Given the description of an element on the screen output the (x, y) to click on. 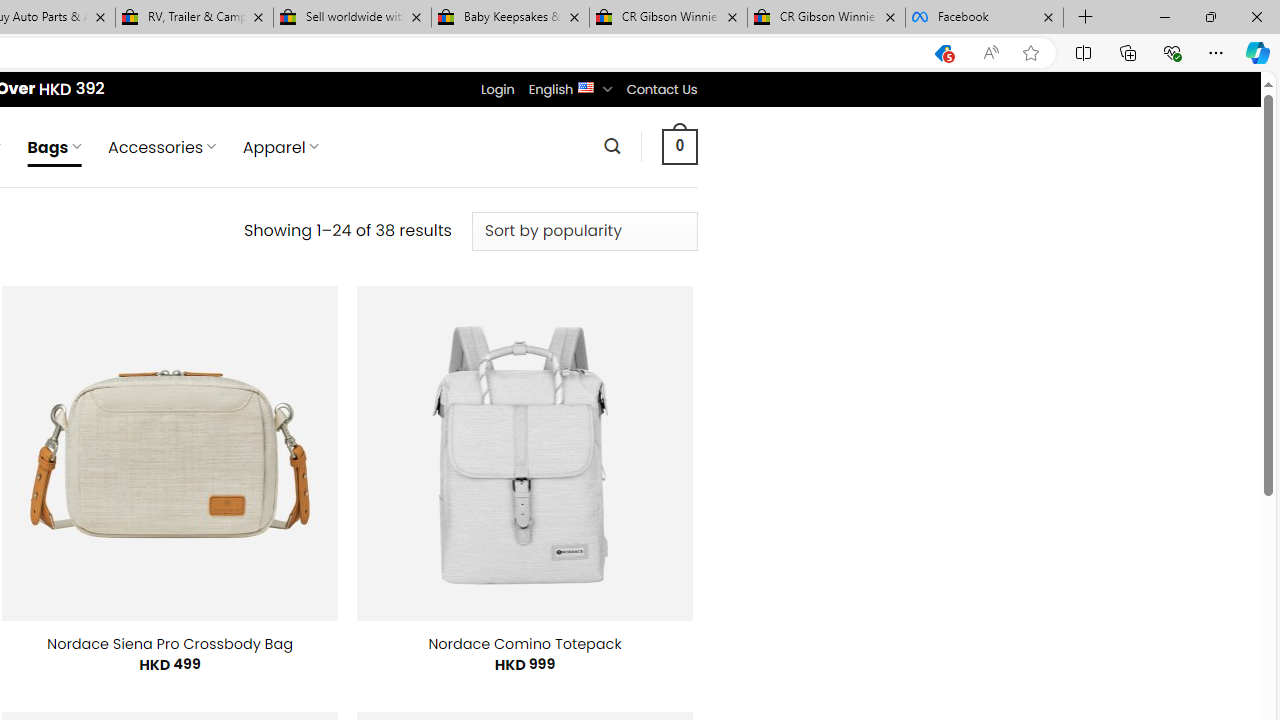
This site has coupons! Shopping in Microsoft Edge, 5 (943, 53)
English (586, 86)
